Given the description of an element on the screen output the (x, y) to click on. 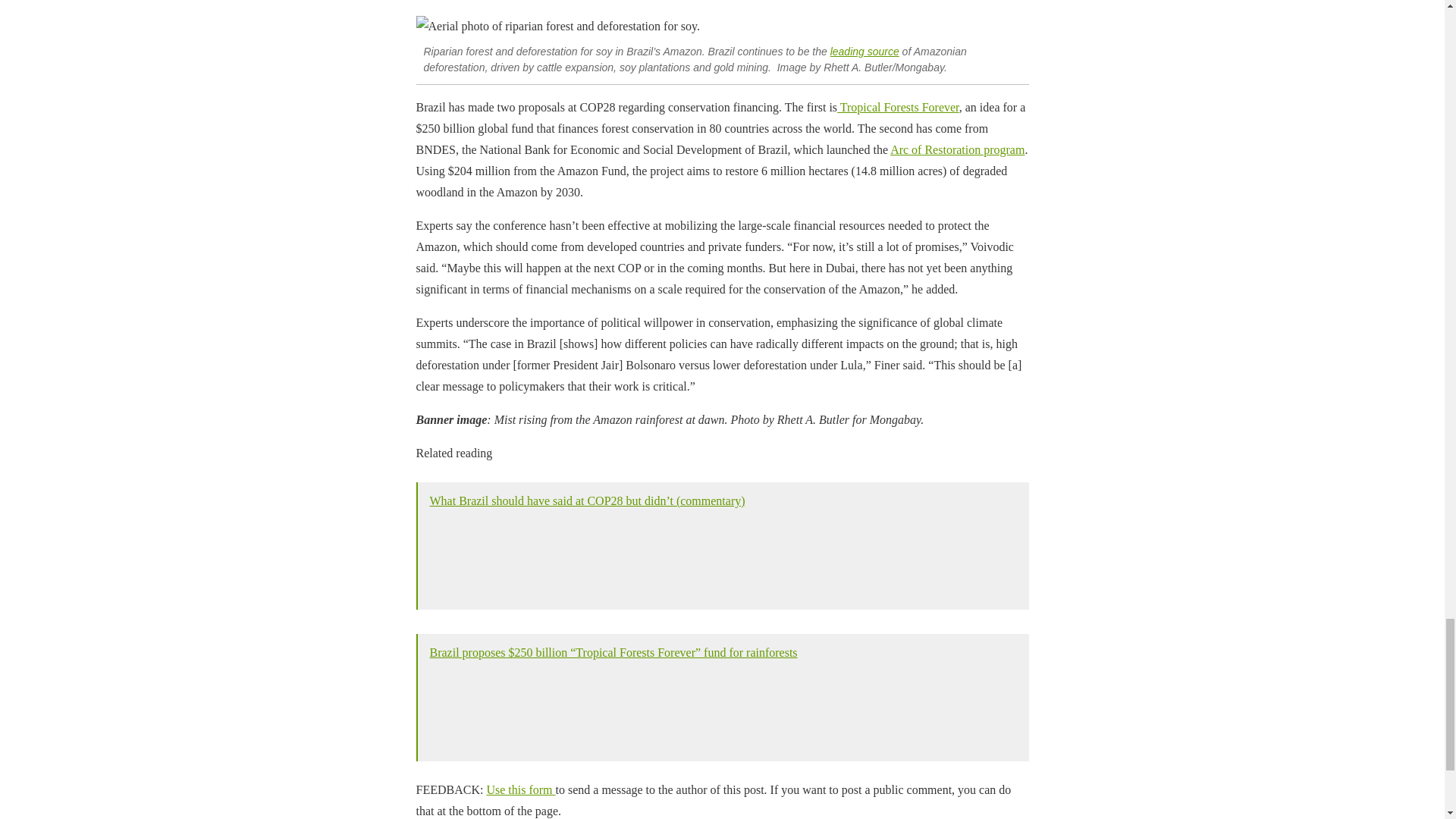
Tropical Forests Forever (898, 106)
Arc of Restoration program (957, 149)
Use this form  (520, 789)
leading source (864, 51)
